Given the description of an element on the screen output the (x, y) to click on. 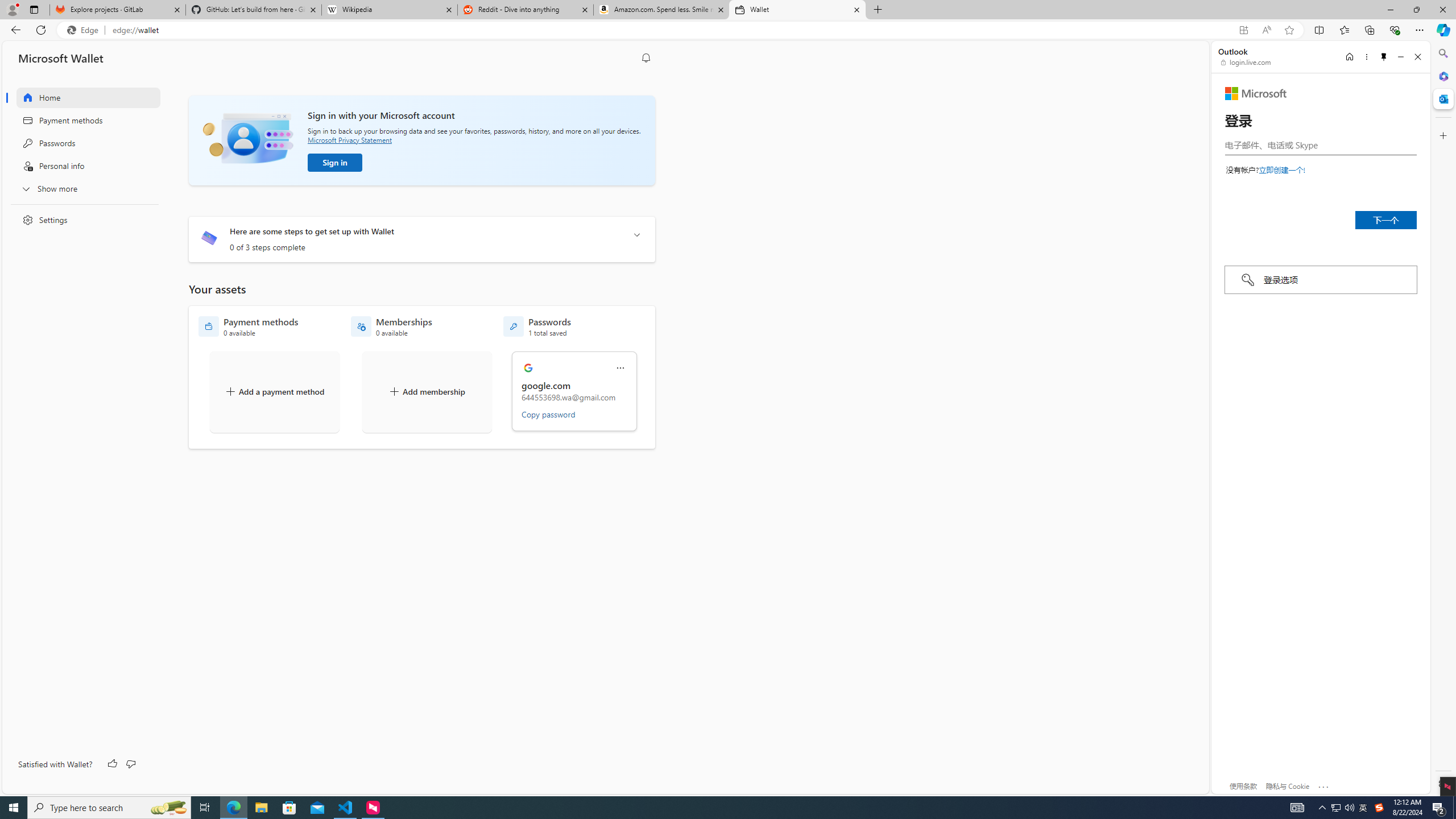
Add a payment method (274, 391)
Memberships - 0 available (391, 326)
Personal info (81, 165)
Passwords (81, 142)
Copy password (548, 414)
